Given the description of an element on the screen output the (x, y) to click on. 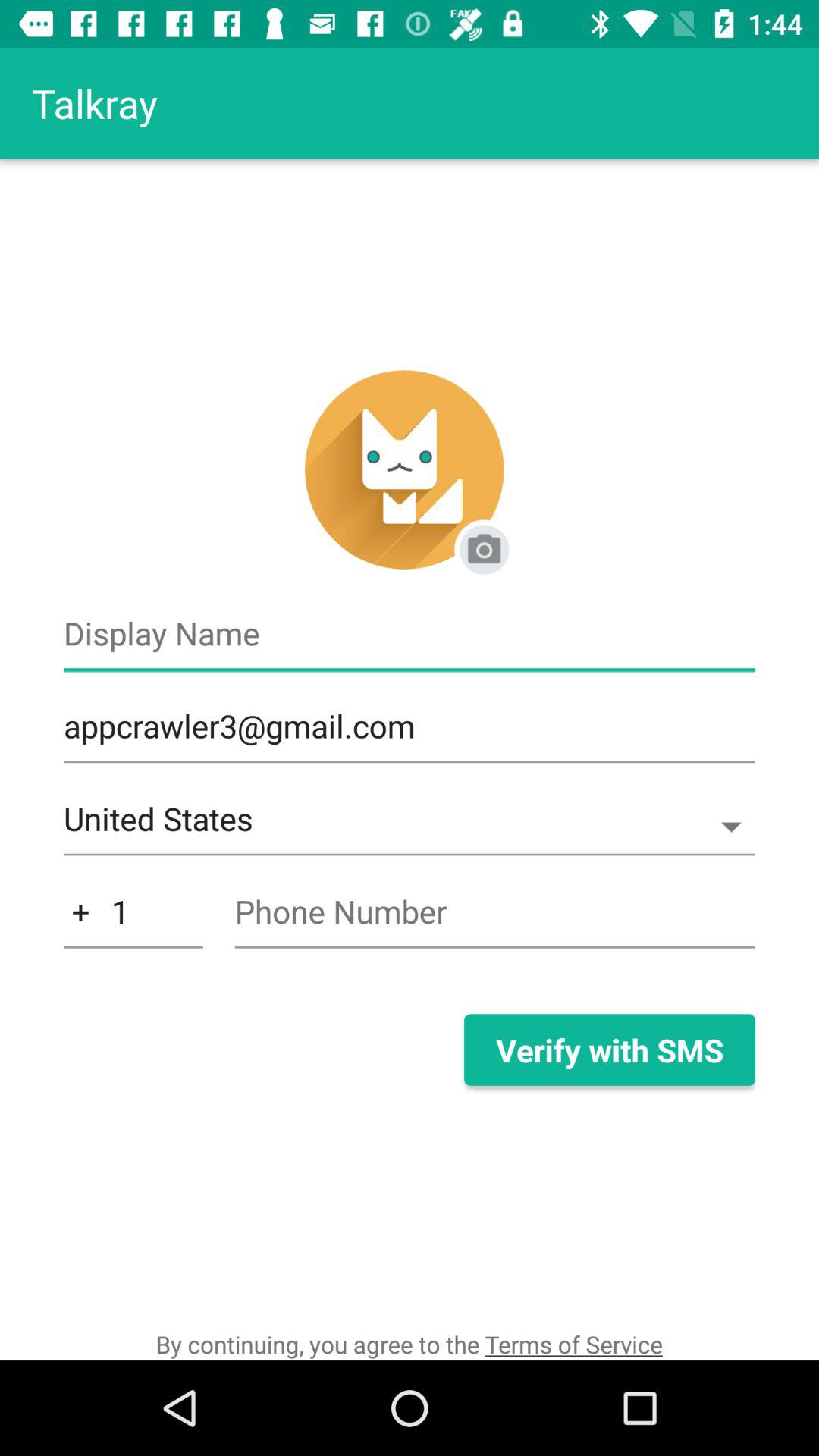
turn off icon above united states icon (409, 734)
